Given the description of an element on the screen output the (x, y) to click on. 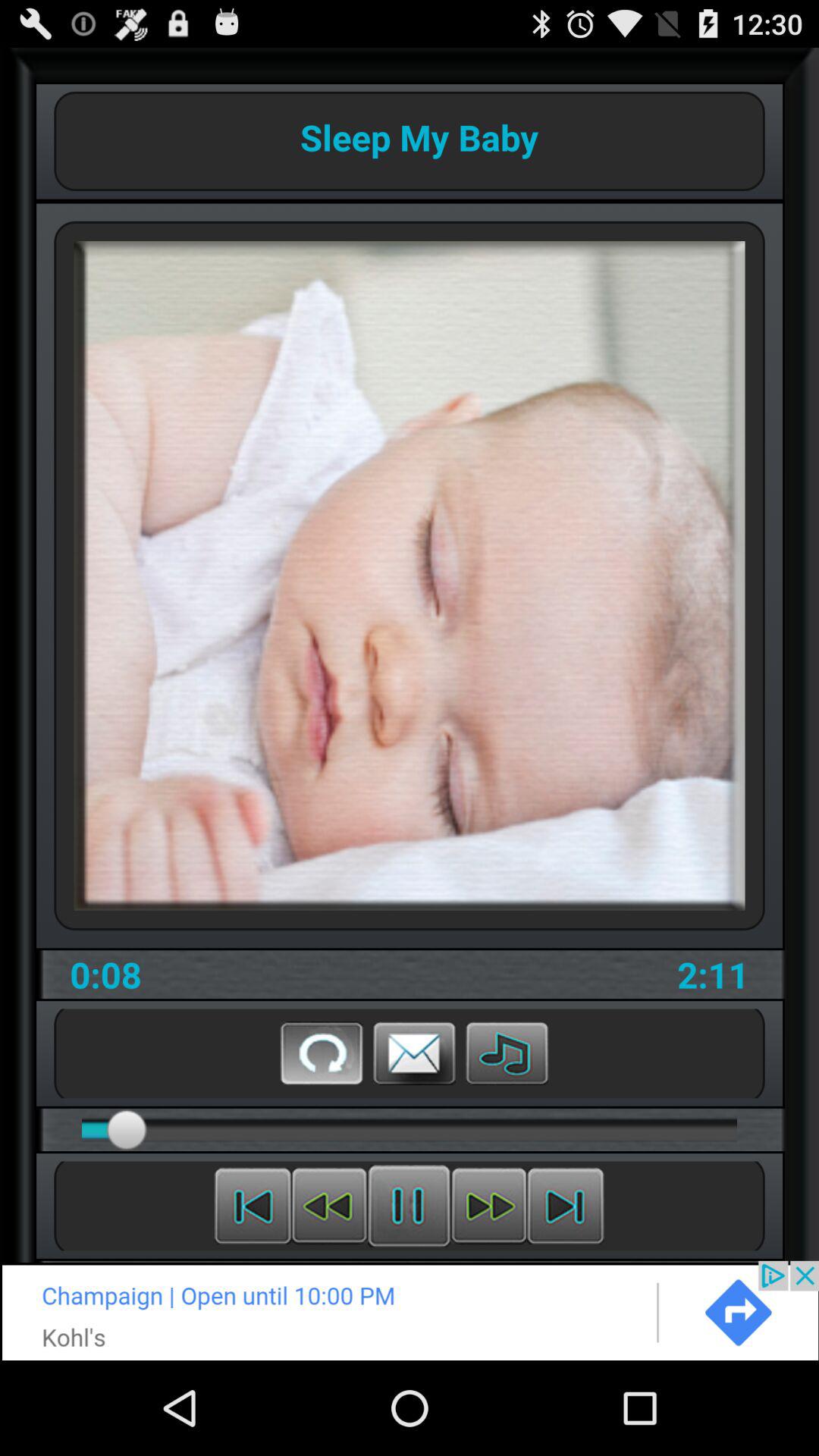
skip (565, 1205)
